Given the description of an element on the screen output the (x, y) to click on. 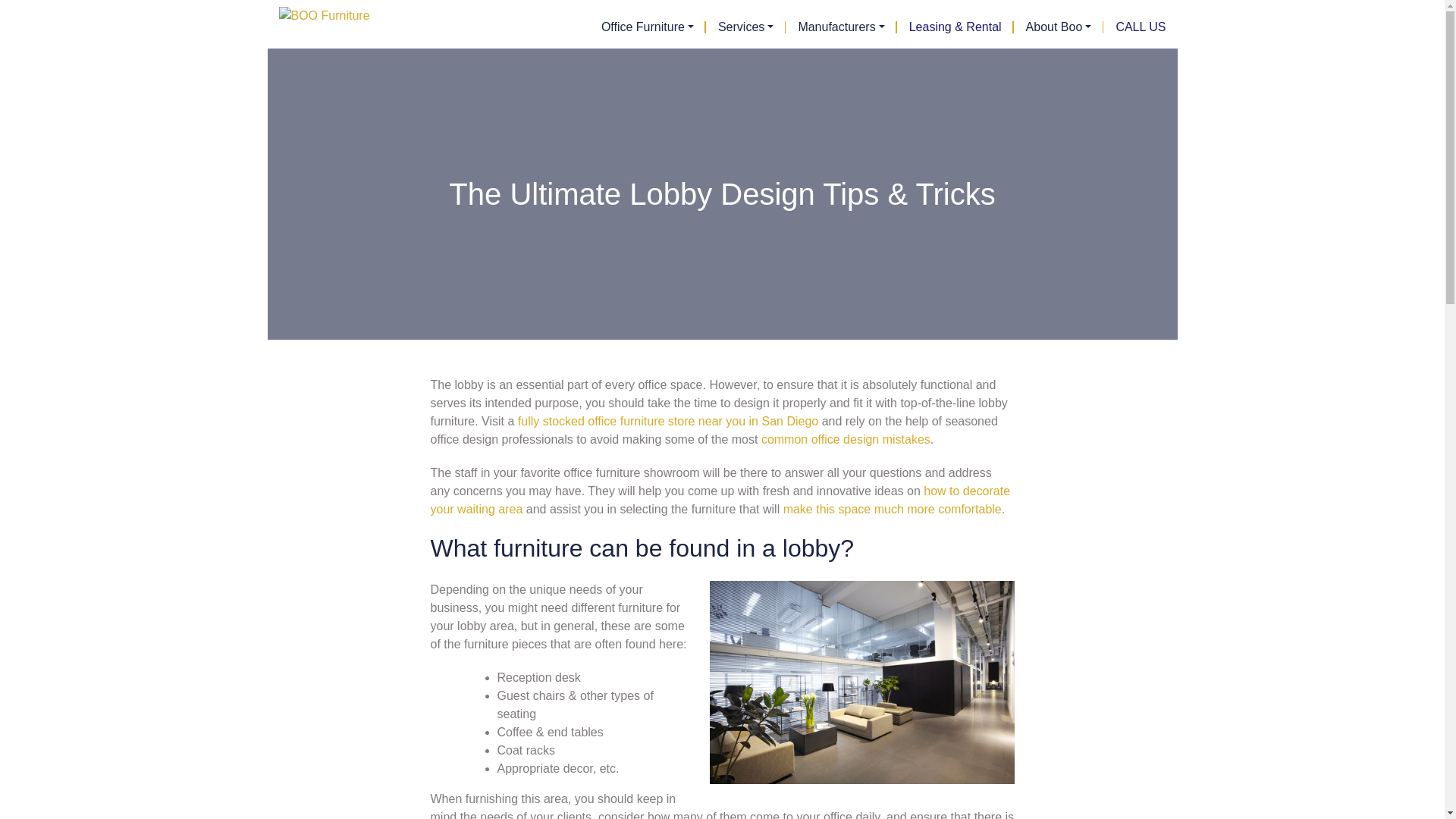
Manufacturers (841, 27)
About Boo (1058, 27)
CALL US (1134, 27)
Office Furniture (647, 27)
Services (746, 27)
Services (746, 27)
Office Furniture (647, 27)
